Given the description of an element on the screen output the (x, y) to click on. 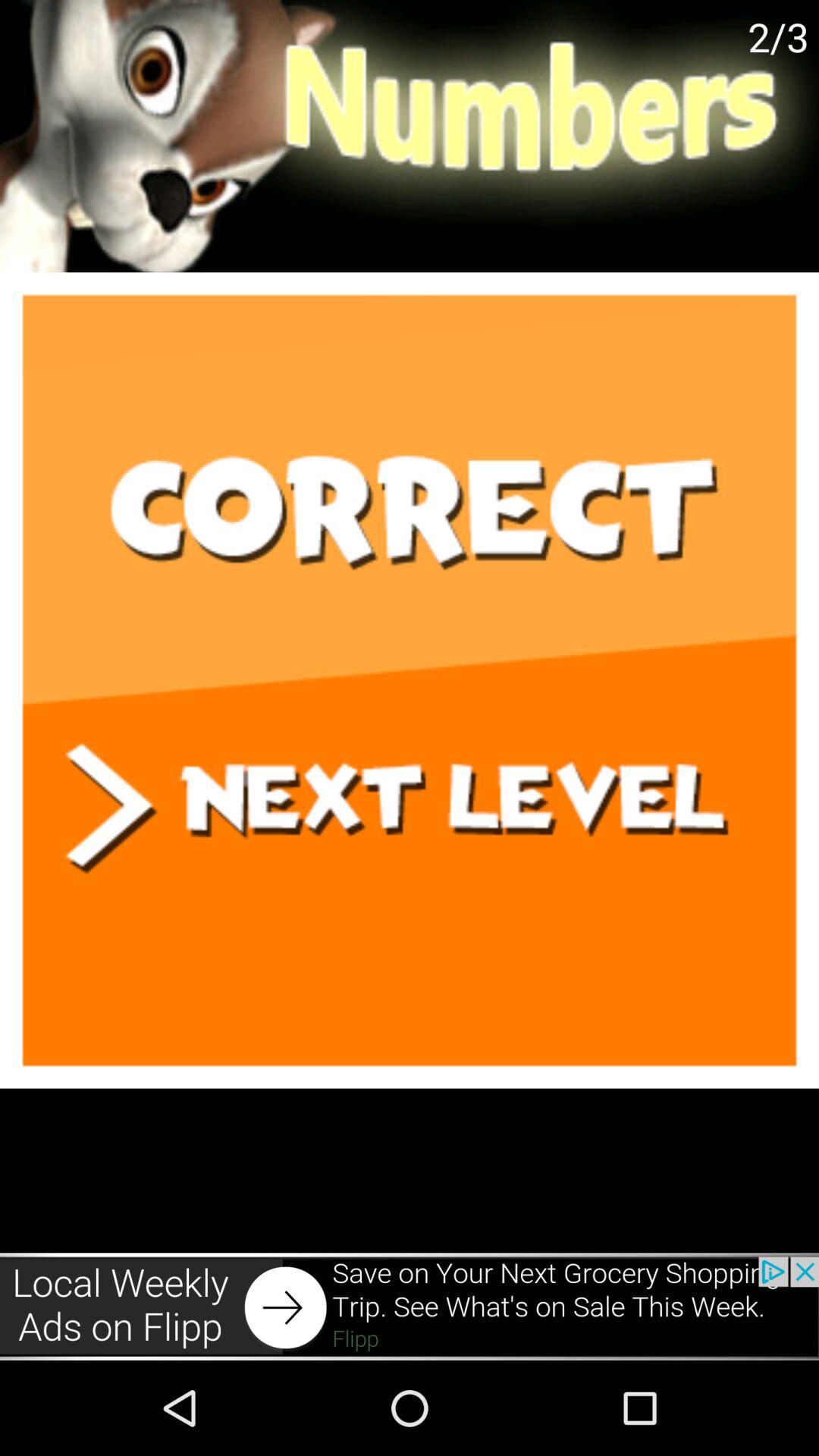
advertisement (409, 1306)
